Given the description of an element on the screen output the (x, y) to click on. 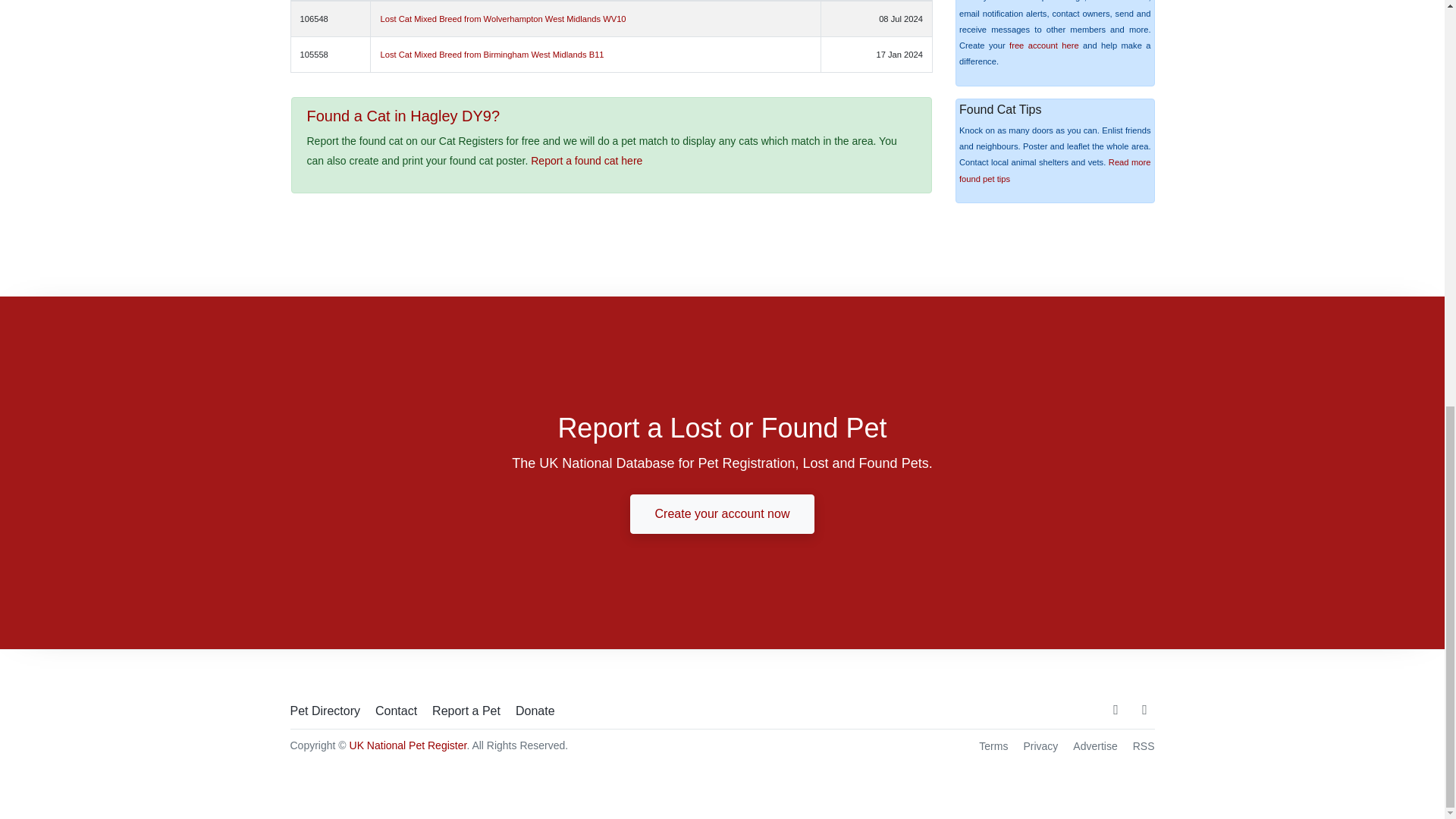
Lost Cat Mixed Breed from Wolverhampton West Midlands WV10 (503, 18)
